Given the description of an element on the screen output the (x, y) to click on. 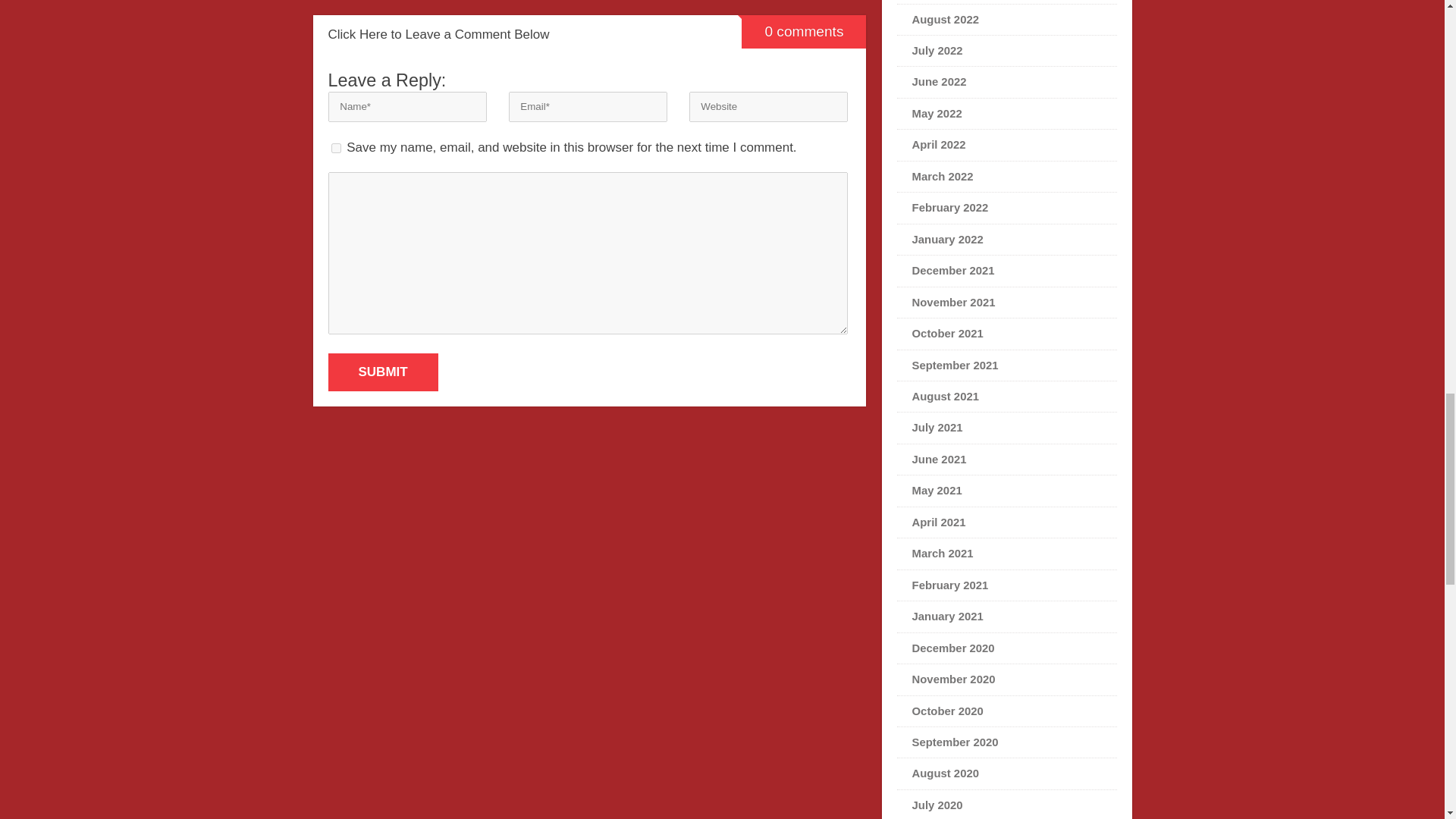
SUBMIT (382, 371)
SUBMIT (382, 371)
yes (335, 148)
